Given the description of an element on the screen output the (x, y) to click on. 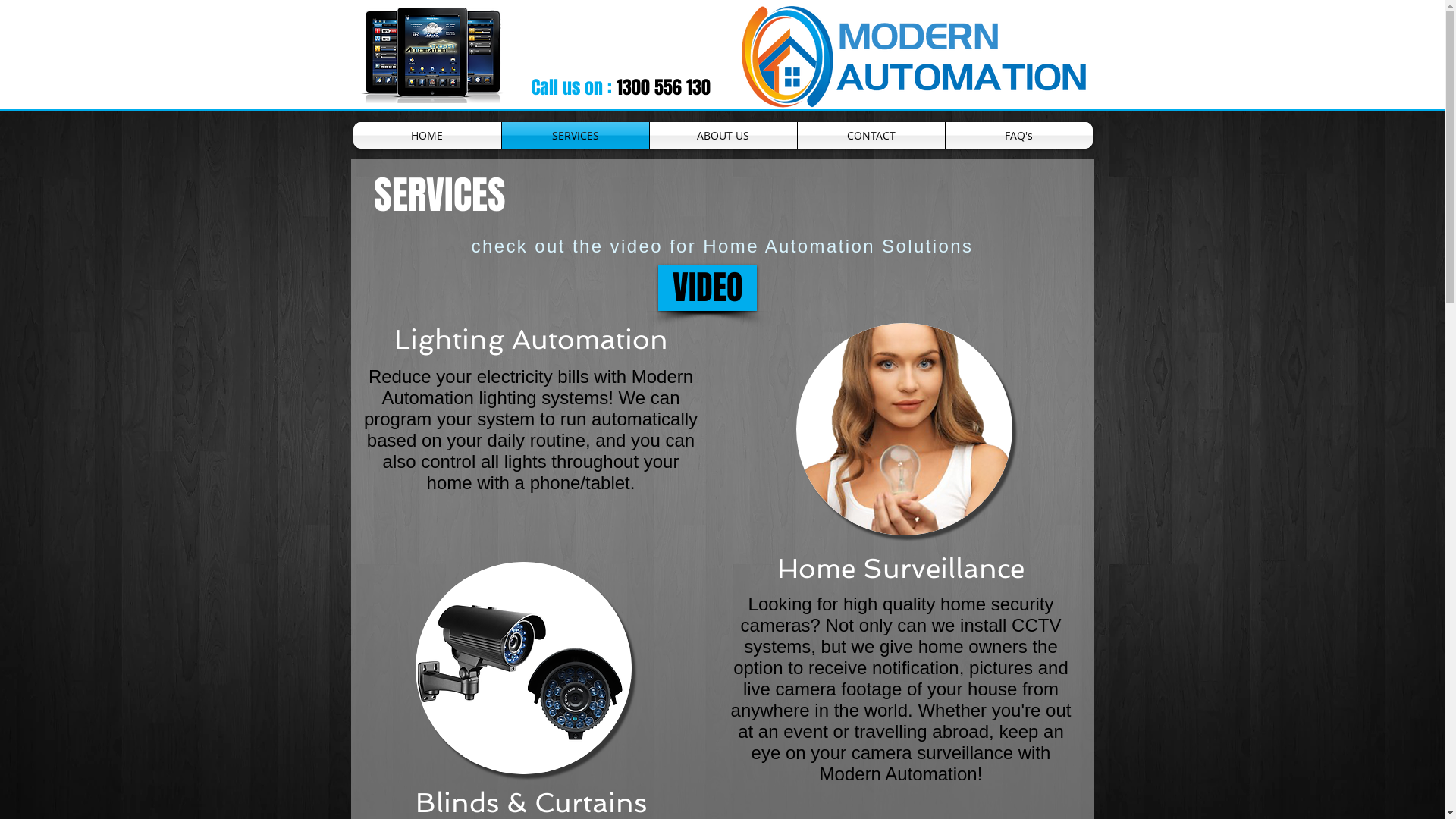
ABOUT US Element type: text (722, 135)
VIDEO Element type: text (707, 287)
Home Surveillance Element type: hover (523, 667)
HOME Element type: text (427, 135)
 Home Automation Solutions Element type: text (834, 245)
Lighting Automation Element type: hover (904, 429)
check out the video for Element type: text (583, 245)
CONTACT Element type: text (870, 135)
FAQ's Element type: text (1018, 135)
SERVICES Element type: text (575, 135)
